Given the description of an element on the screen output the (x, y) to click on. 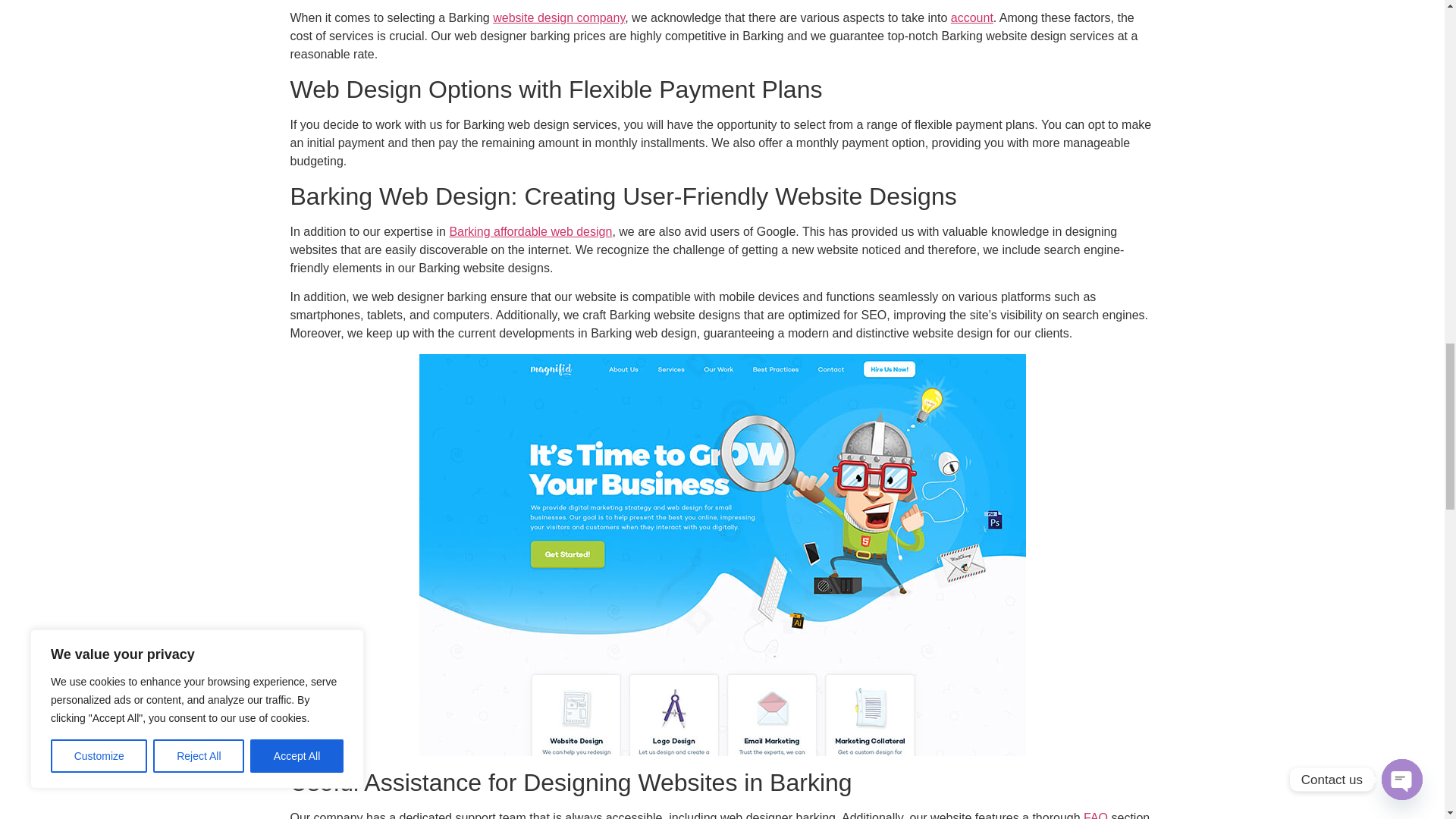
FAQ (1095, 815)
My account (971, 17)
Website Design Company In United Kingdom (558, 17)
